Given the description of an element on the screen output the (x, y) to click on. 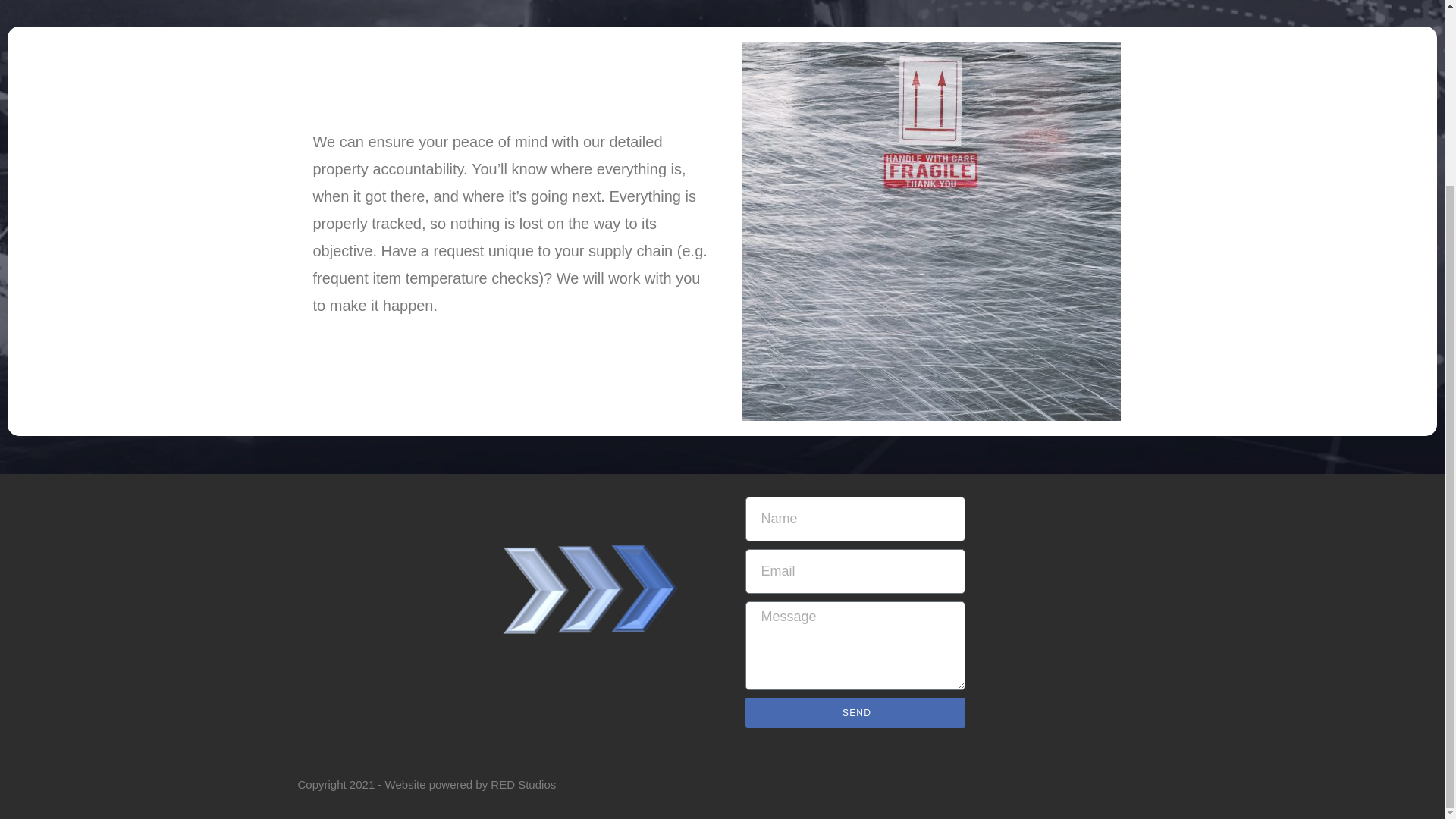
Copyright 2021 - Website powered by RED Studios (426, 784)
SEND (853, 712)
